Given the description of an element on the screen output the (x, y) to click on. 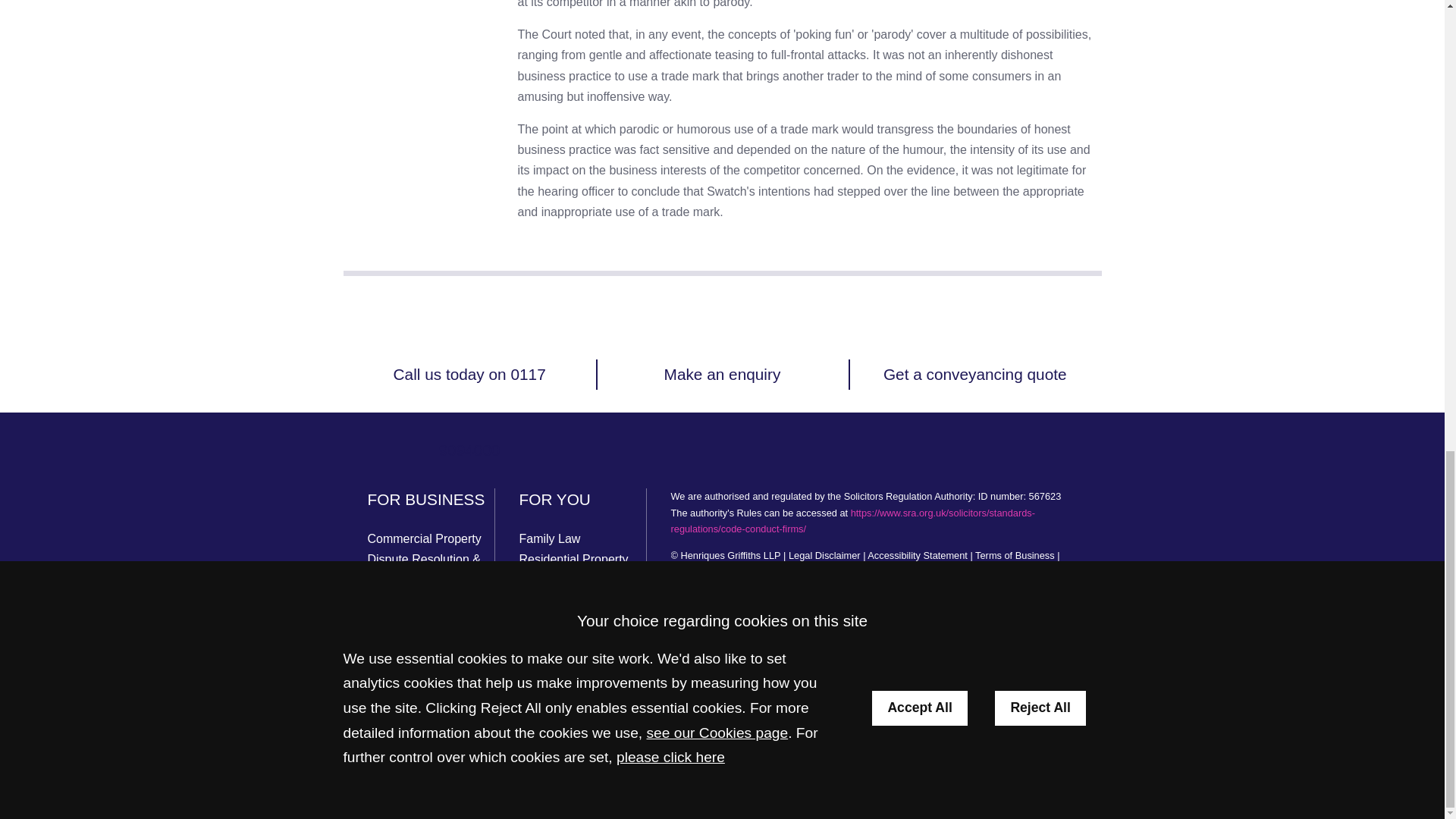
Call us today on 0117 9094000 (469, 411)
Make an enquiry (721, 374)
Get a conveyancing quote (975, 374)
